Given the description of an element on the screen output the (x, y) to click on. 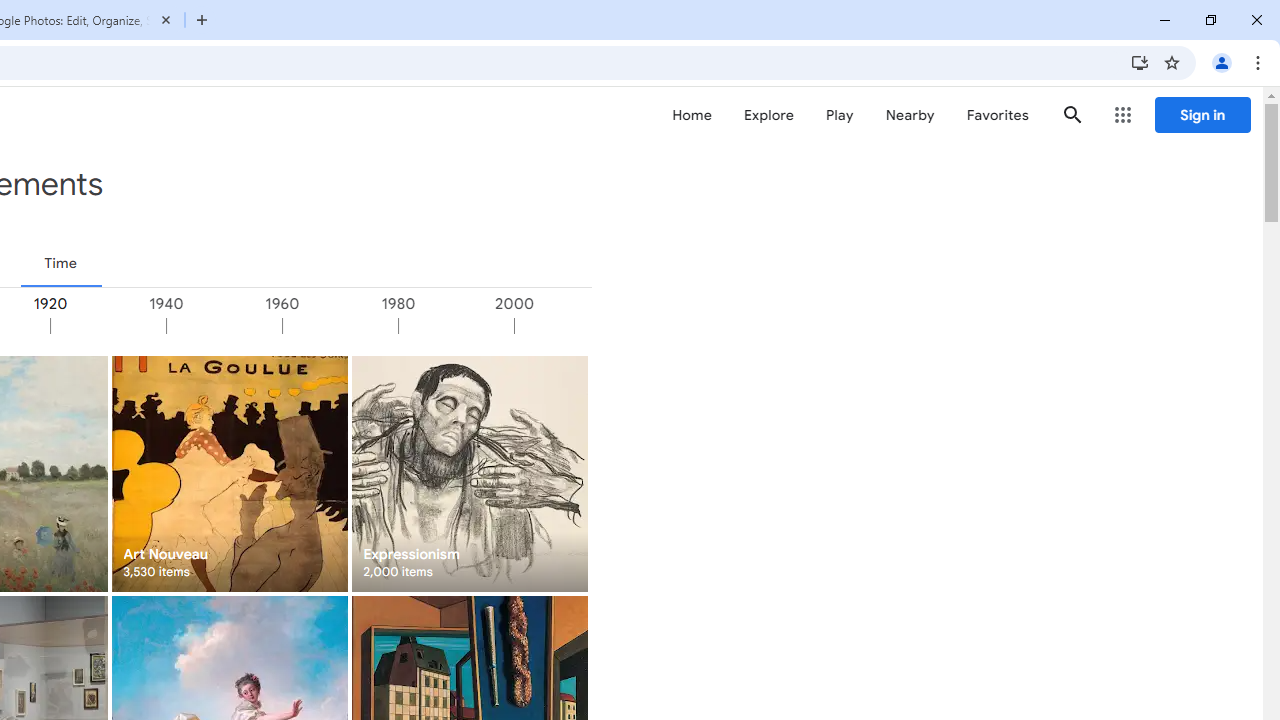
Nearby (910, 115)
Art Nouveau 3,530 items (229, 473)
Explore (768, 115)
Expressionism 2,000 items (468, 473)
